Given the description of an element on the screen output the (x, y) to click on. 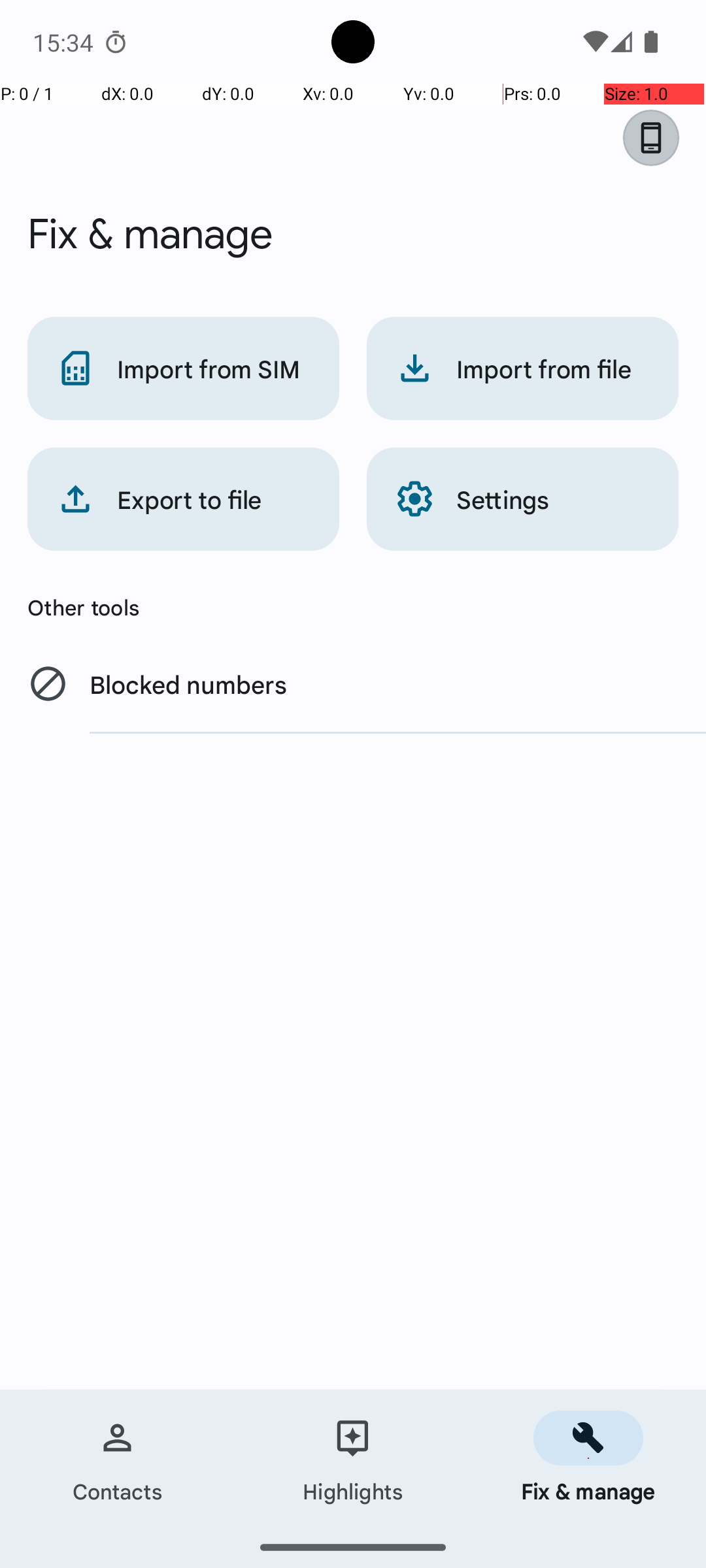
Other tools Element type: android.widget.TextView (353, 606)
Import from SIM Element type: android.widget.TextView (183, 368)
Import from file Element type: android.widget.TextView (522, 368)
Export to file Element type: android.widget.TextView (183, 498)
